Given the description of an element on the screen output the (x, y) to click on. 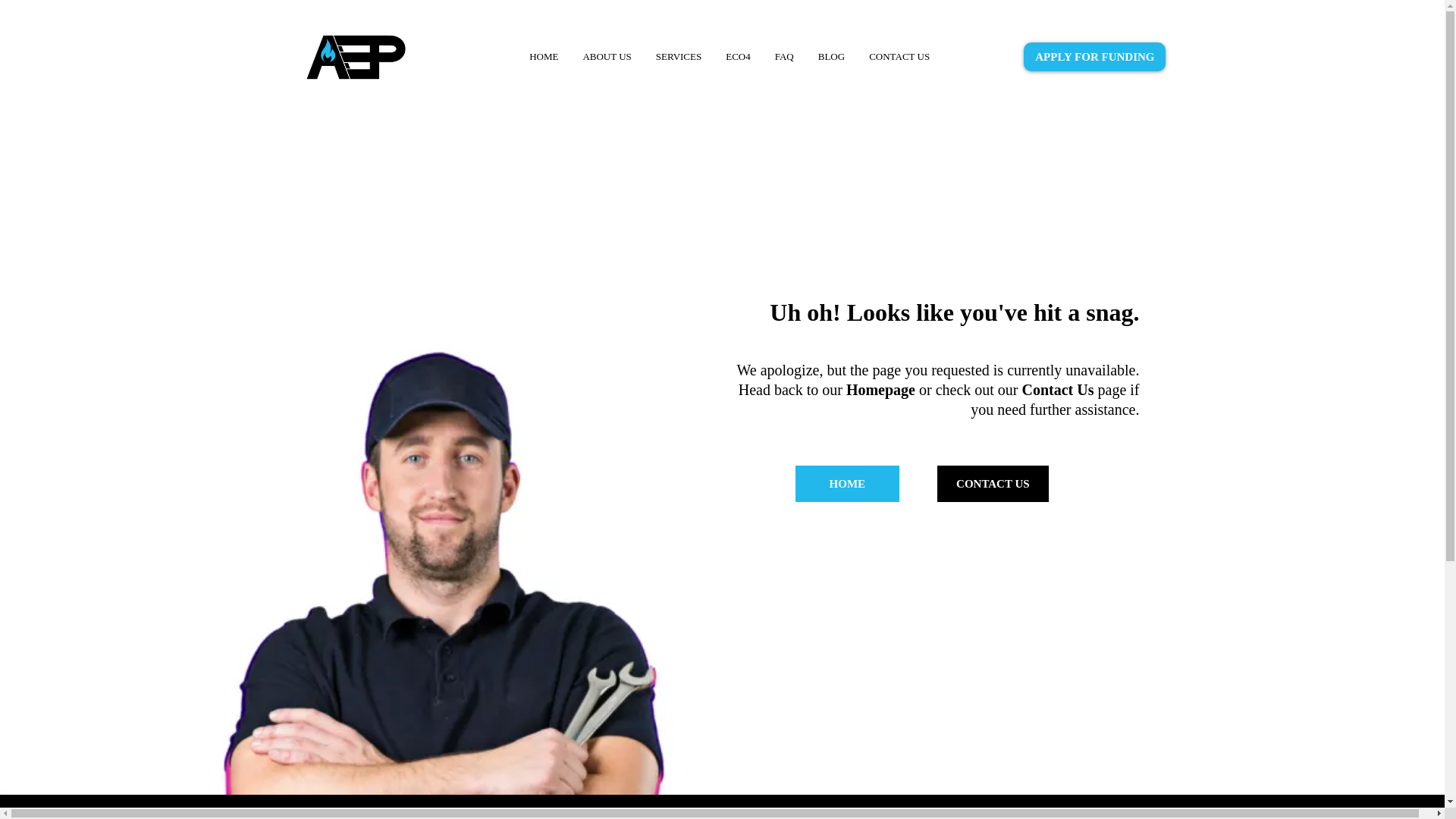
ECO4 (737, 56)
SERVICES (678, 56)
ABOUT US (606, 56)
BLOG (831, 56)
HOME (543, 56)
FAQ (784, 56)
CONTACT US (992, 484)
HOME (846, 484)
APPLY FOR FUNDING (1094, 56)
CONTACT US (899, 56)
